Given the description of an element on the screen output the (x, y) to click on. 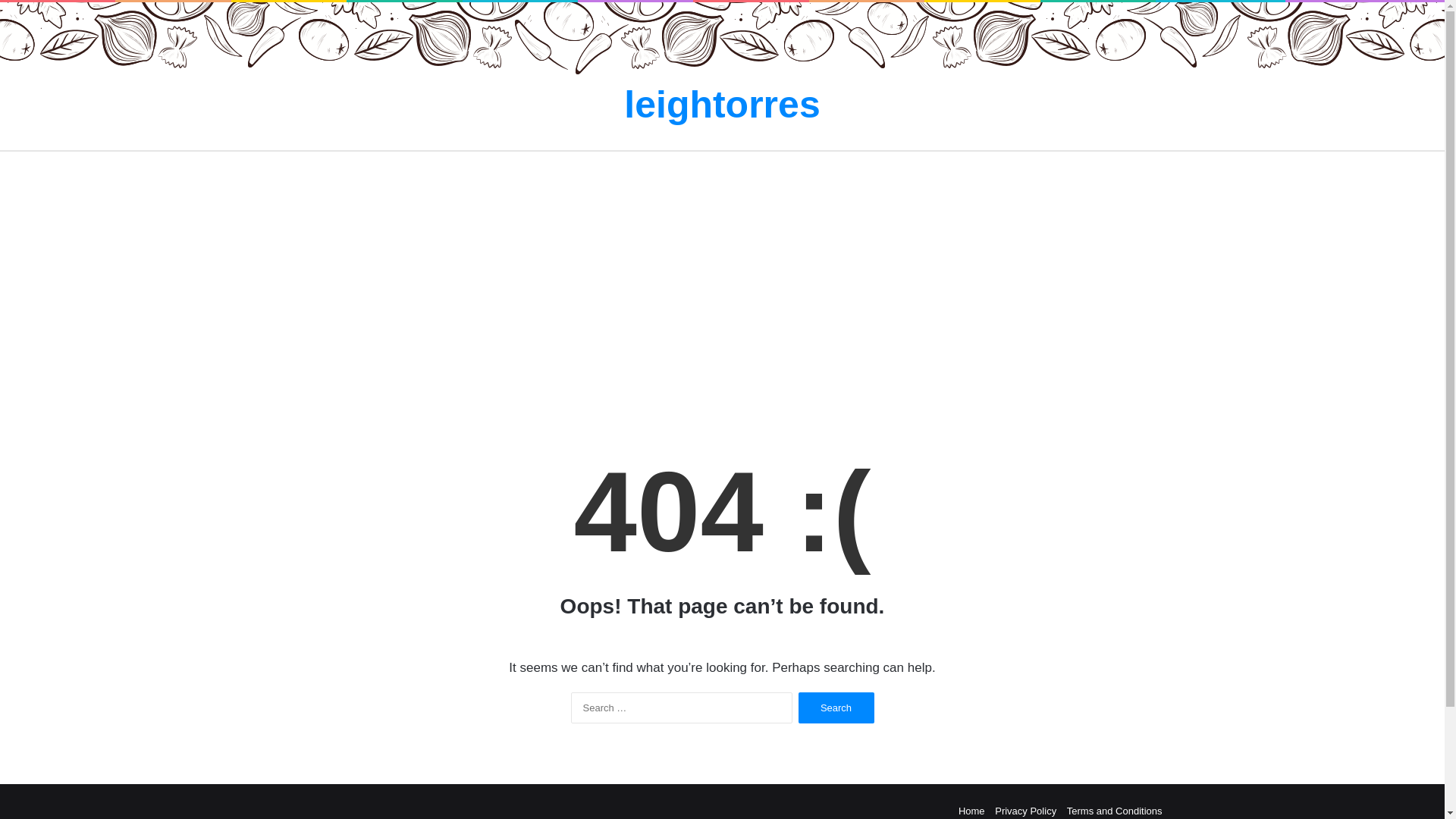
Home (971, 810)
Terms and Conditions (1114, 810)
Search (835, 707)
Search (835, 707)
leightorres (721, 104)
Privacy Policy (1025, 810)
leightorres (721, 104)
Search (835, 707)
